Given the description of an element on the screen output the (x, y) to click on. 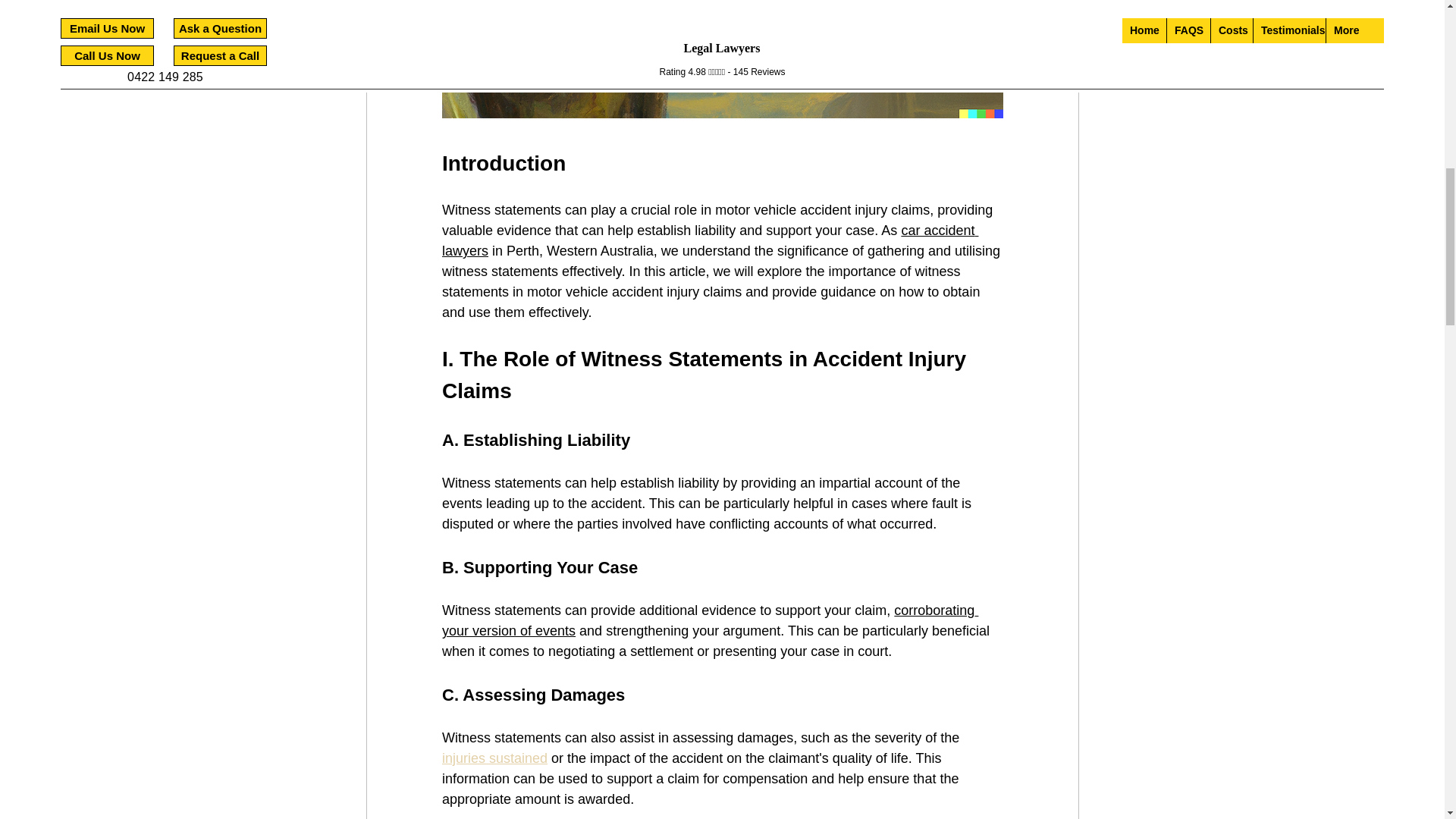
corroborating your version of events (708, 620)
car accident lawyers (708, 240)
injuries sustained (494, 758)
